Given the description of an element on the screen output the (x, y) to click on. 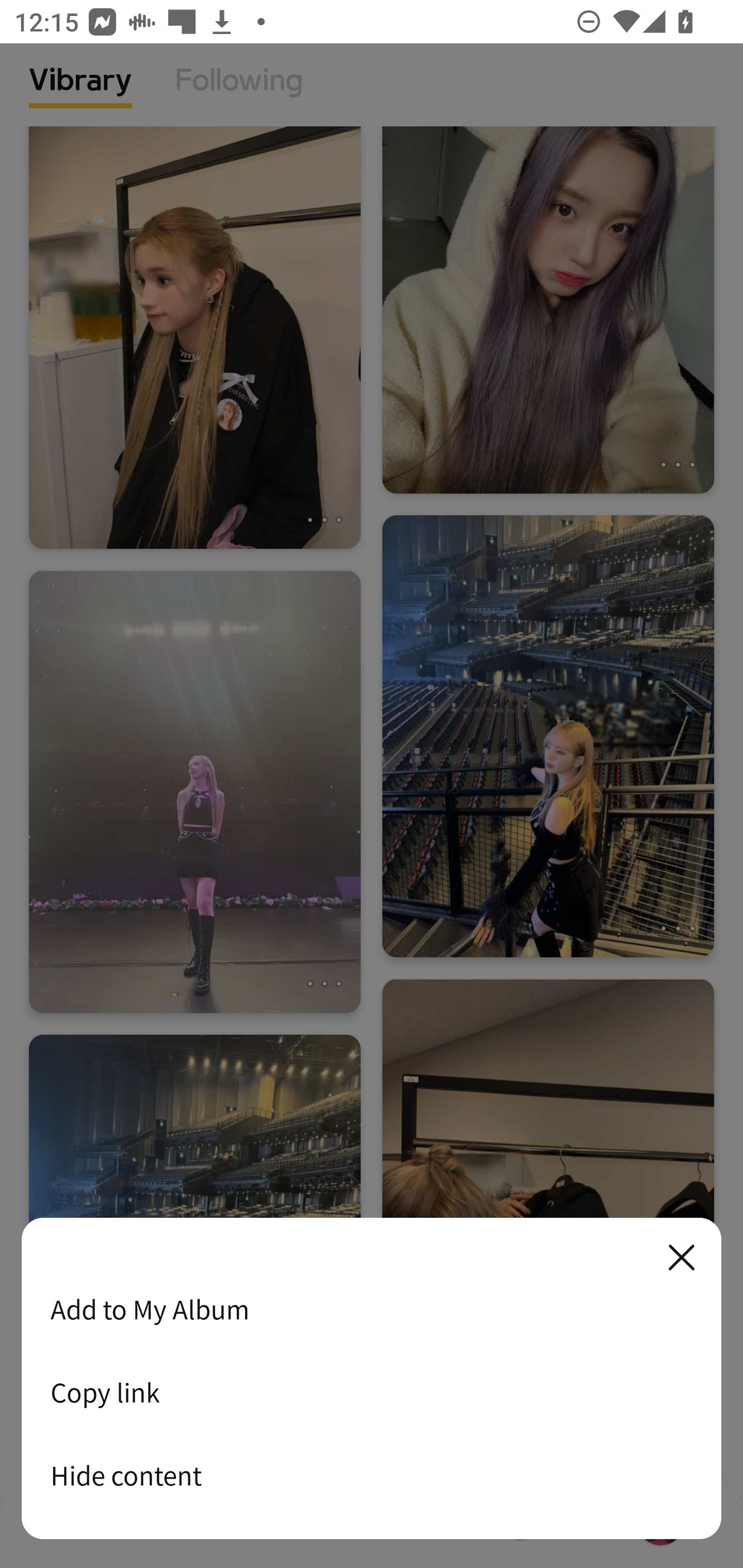
Add to My Album Copy link Hide content (371, 1378)
Add to My Album (371, 1308)
Copy link (371, 1391)
Hide content (371, 1474)
